Given the description of an element on the screen output the (x, y) to click on. 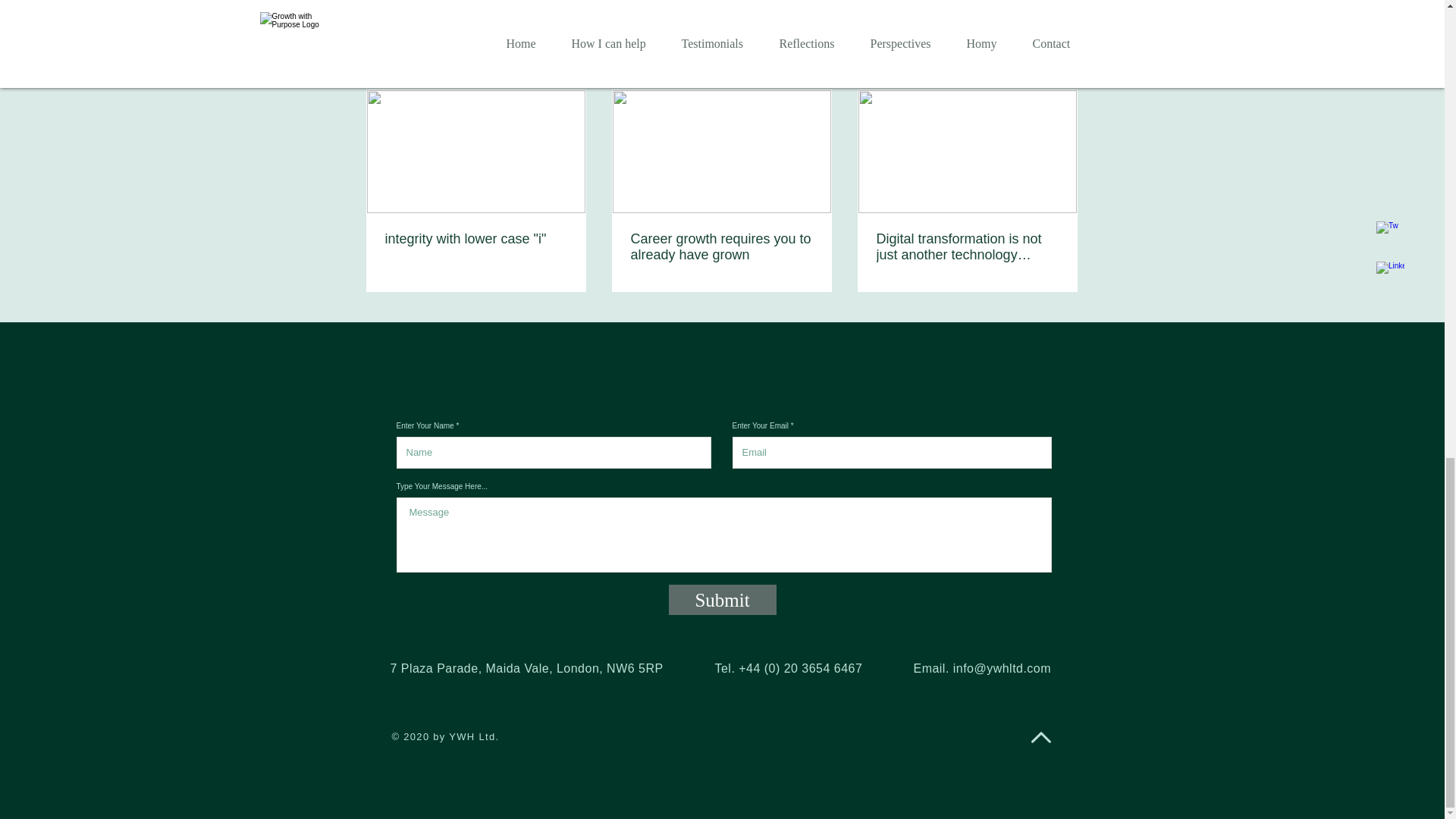
See All (1061, 63)
integrity with lower case "i" (476, 238)
Submit (722, 599)
Career growth requires you to already have grown (721, 246)
